Given the description of an element on the screen output the (x, y) to click on. 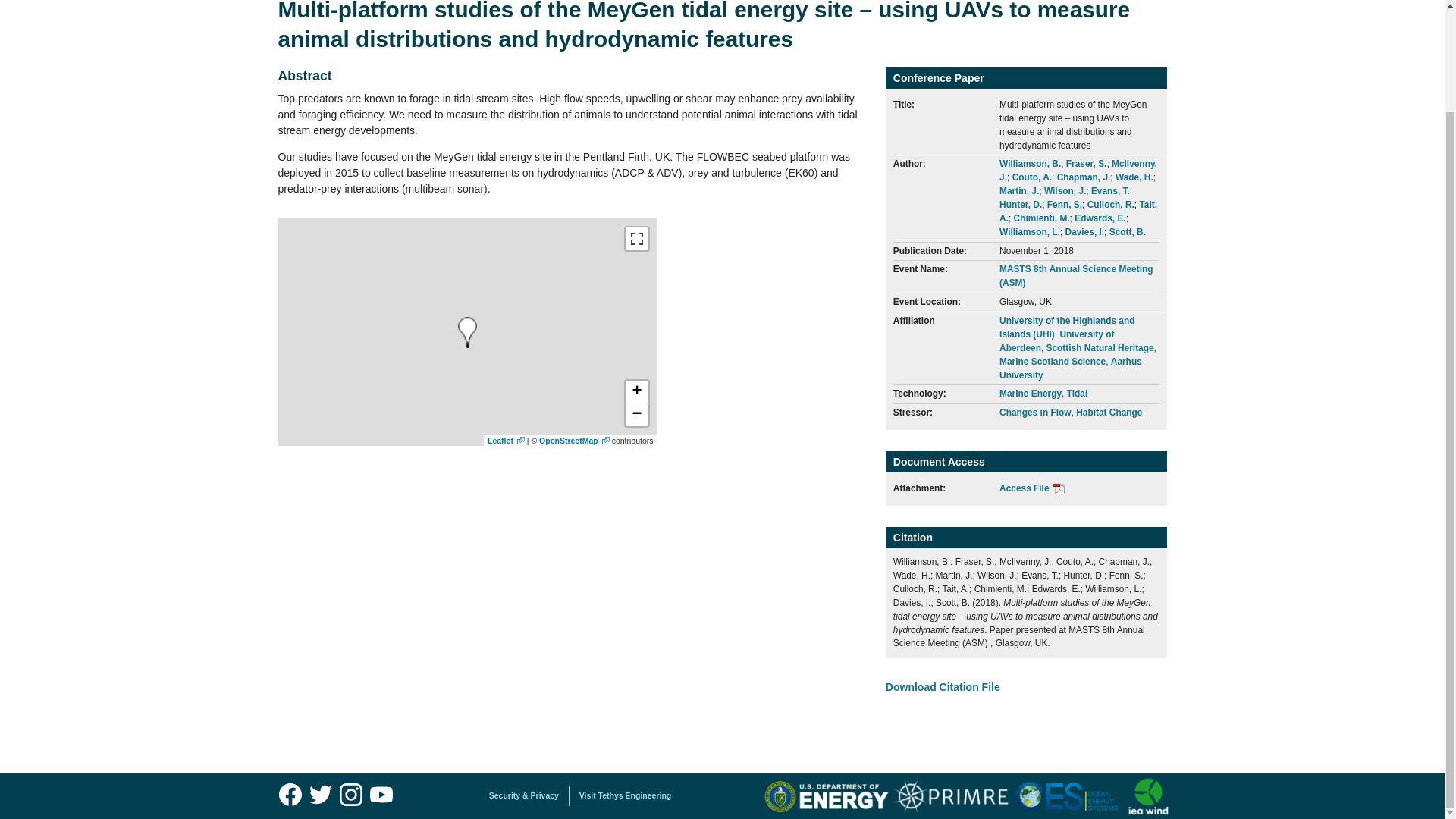
Zoom out (635, 414)
Twitter logo (319, 794)
View Fullscreen (635, 238)
Facebook logo (290, 794)
Instagram logo (350, 794)
YouTube logo (381, 794)
A JavaScript library for interactive maps (505, 440)
Zoom in (635, 391)
